Given the description of an element on the screen output the (x, y) to click on. 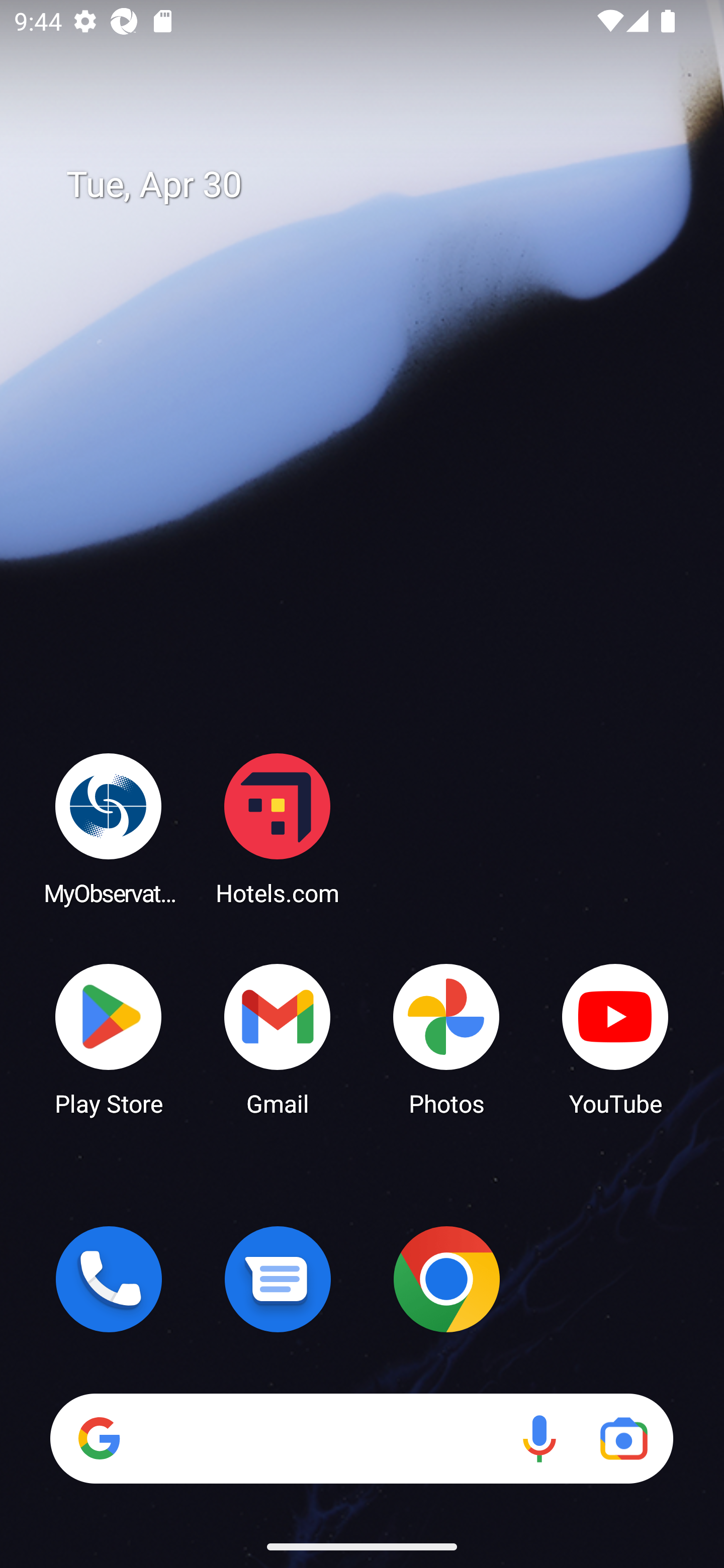
Tue, Apr 30 (375, 184)
MyObservatory (108, 828)
Hotels.com (277, 828)
Play Store (108, 1038)
Gmail (277, 1038)
Photos (445, 1038)
YouTube (615, 1038)
Phone (108, 1279)
Messages (277, 1279)
Chrome (446, 1279)
Voice search (539, 1438)
Google Lens (623, 1438)
